Given the description of an element on the screen output the (x, y) to click on. 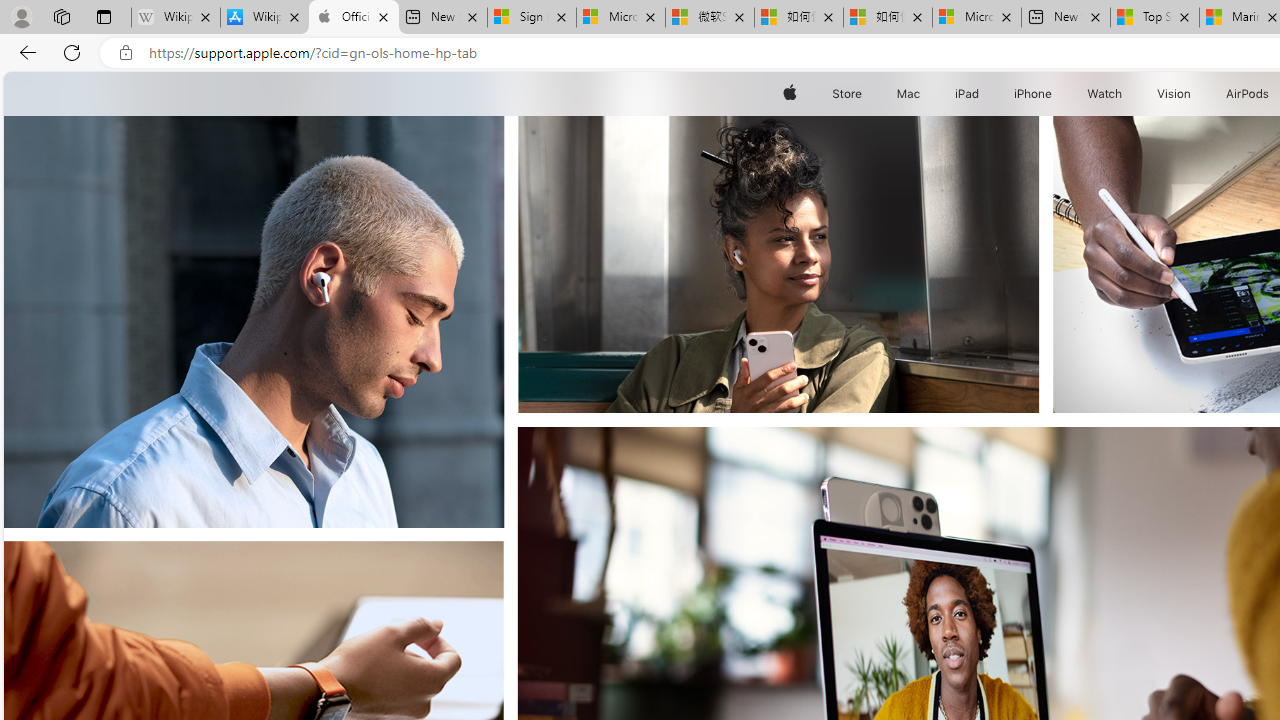
Store (846, 93)
iPad (965, 93)
iPhone menu (1055, 93)
Vision menu (1195, 93)
iPad (965, 93)
Class: globalnav-submenu-trigger-item (1195, 93)
Mac (908, 93)
AirPods (1247, 93)
Microsoft Services Agreement (621, 17)
Watch (1105, 93)
AirPods (1247, 93)
